Given the description of an element on the screen output the (x, y) to click on. 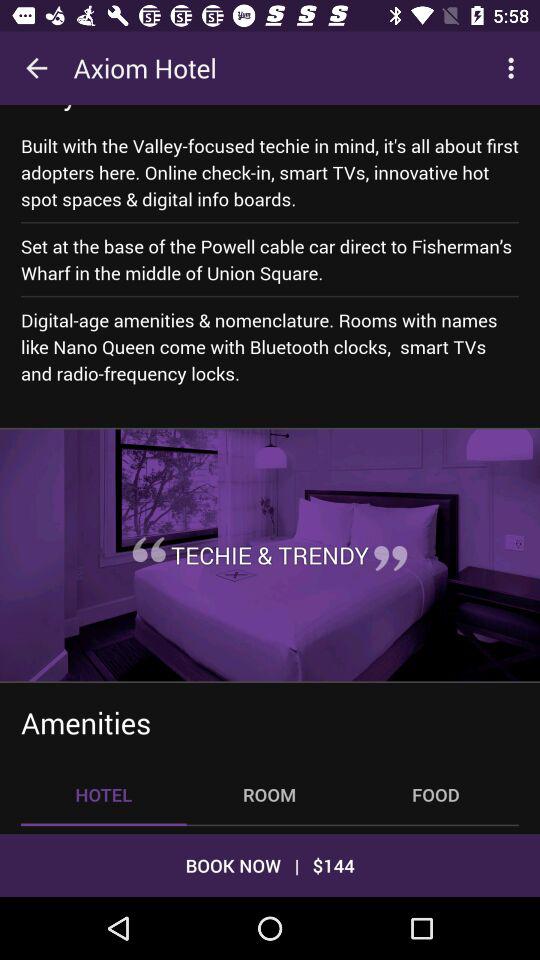
flip to the room (269, 794)
